Given the description of an element on the screen output the (x, y) to click on. 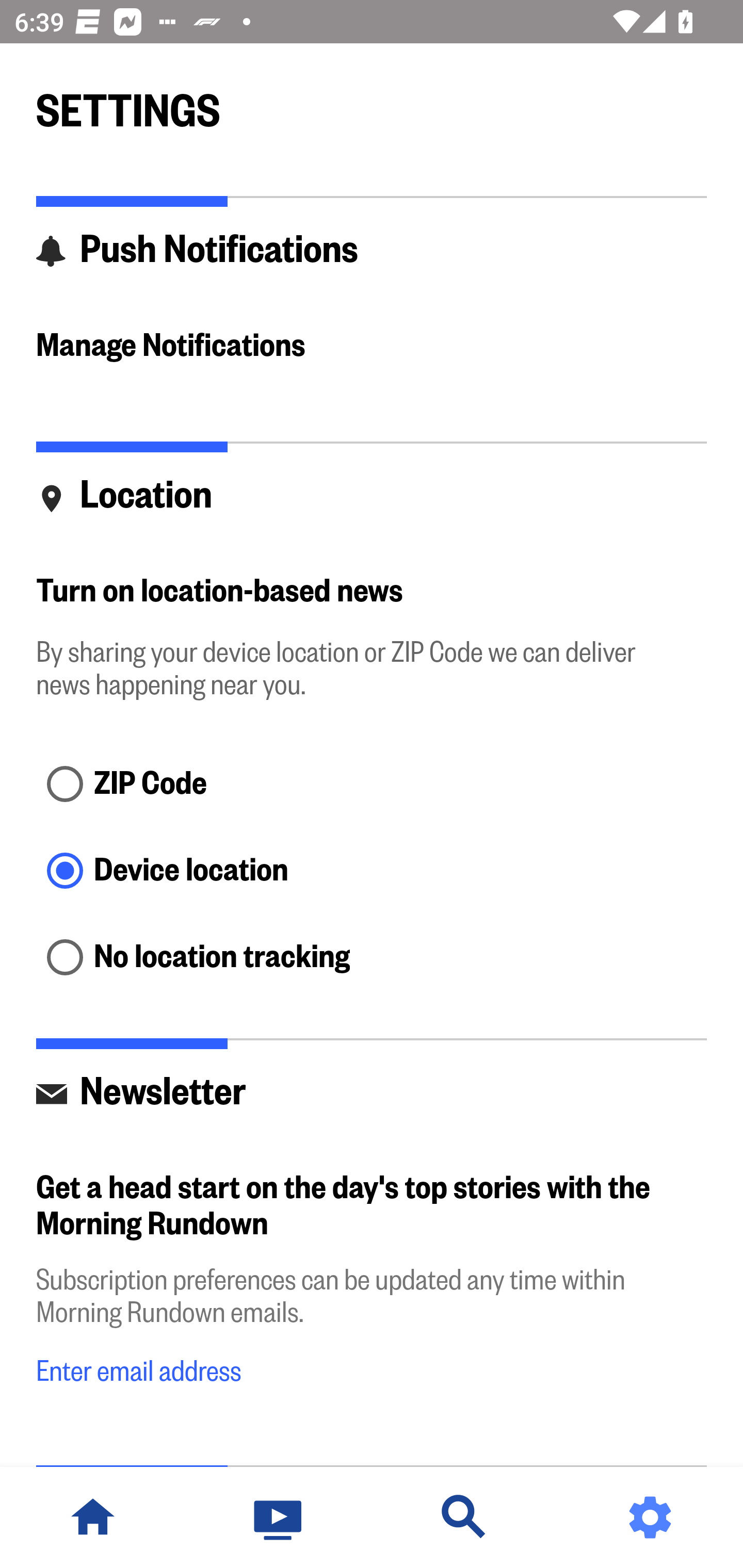
SETTINGS (371, 101)
Manage Notifications (371, 346)
ZIP Code (371, 785)
Device location (371, 872)
No location tracking (371, 958)
NBC News Home (92, 1517)
Watch (278, 1517)
Discover (464, 1517)
